Given the description of an element on the screen output the (x, y) to click on. 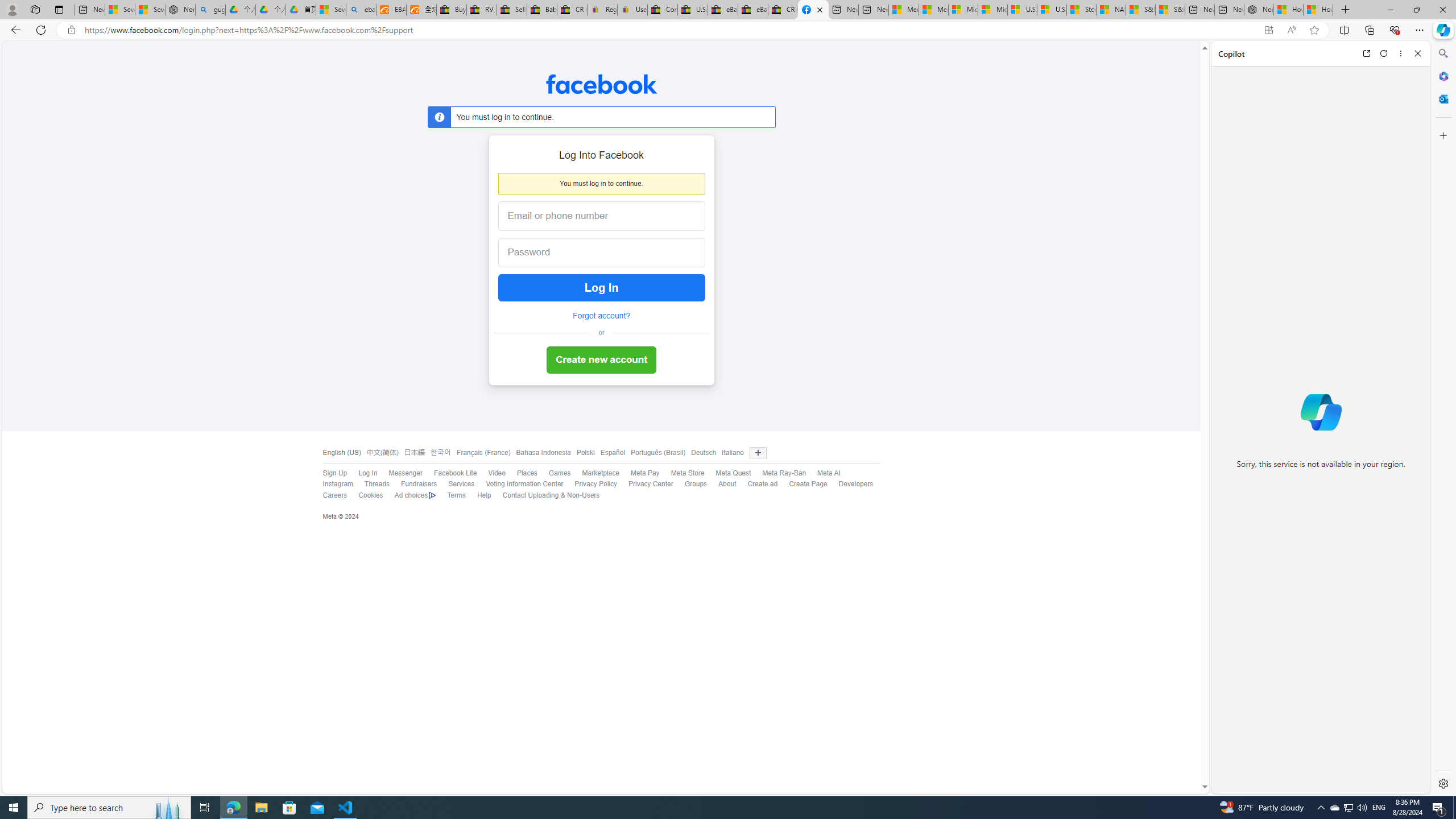
U.S. State Privacy Disclosures - eBay Inc. (691, 9)
Facebook Lite (449, 473)
Marketplace (594, 473)
Sign Up (329, 473)
Deutsch (700, 452)
Marketplace (600, 473)
Log In (361, 473)
Cookies (364, 495)
Password (592, 252)
Places (521, 473)
Meta Pay (638, 473)
